Given the description of an element on the screen output the (x, y) to click on. 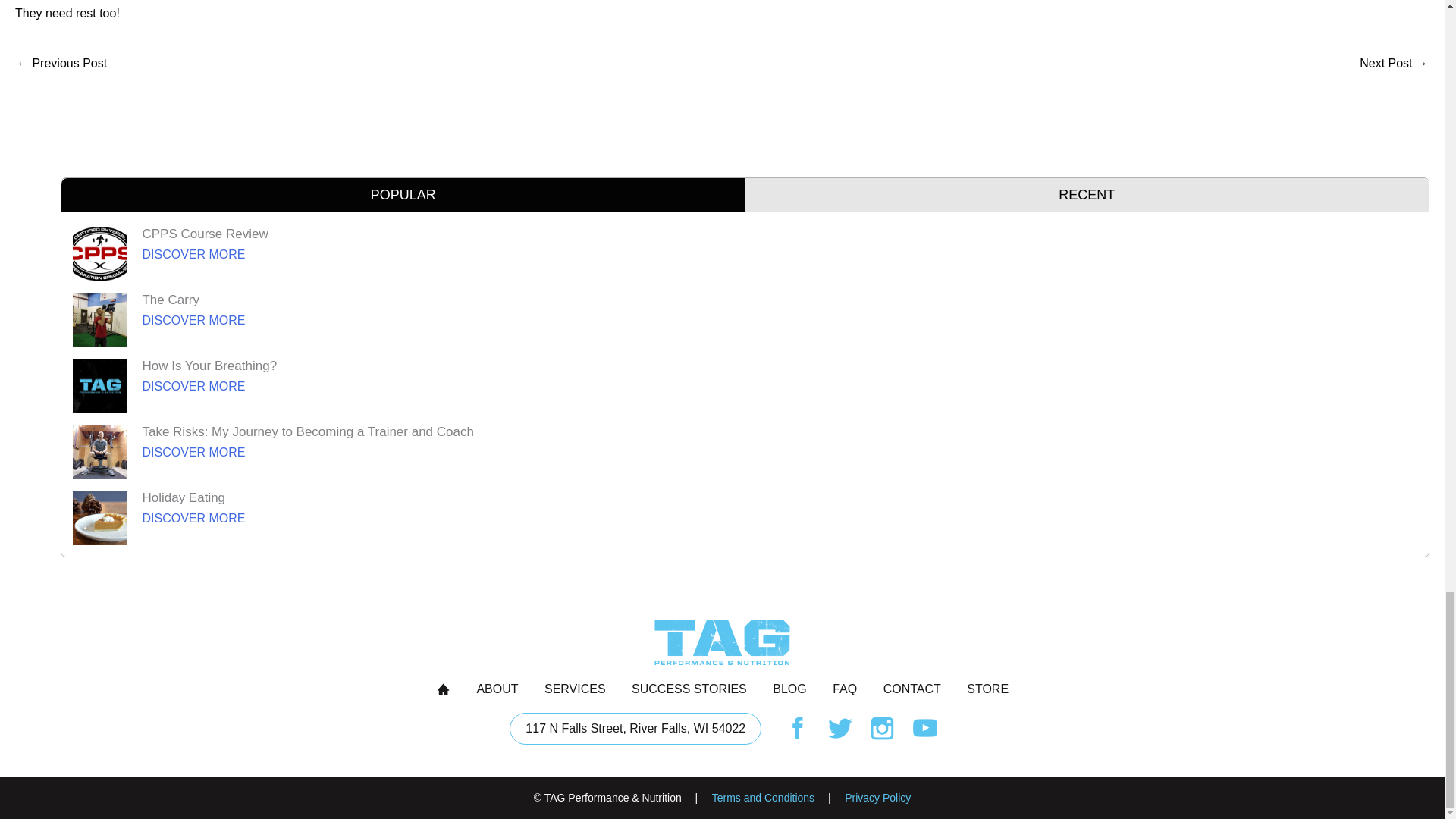
BLOG (789, 688)
instagram (882, 728)
youtube (635, 728)
facebook (925, 728)
Privacy Policy (797, 728)
SUCCESS STORIES (497, 688)
Terms and Conditions (877, 797)
RECENT (688, 688)
